Given the description of an element on the screen output the (x, y) to click on. 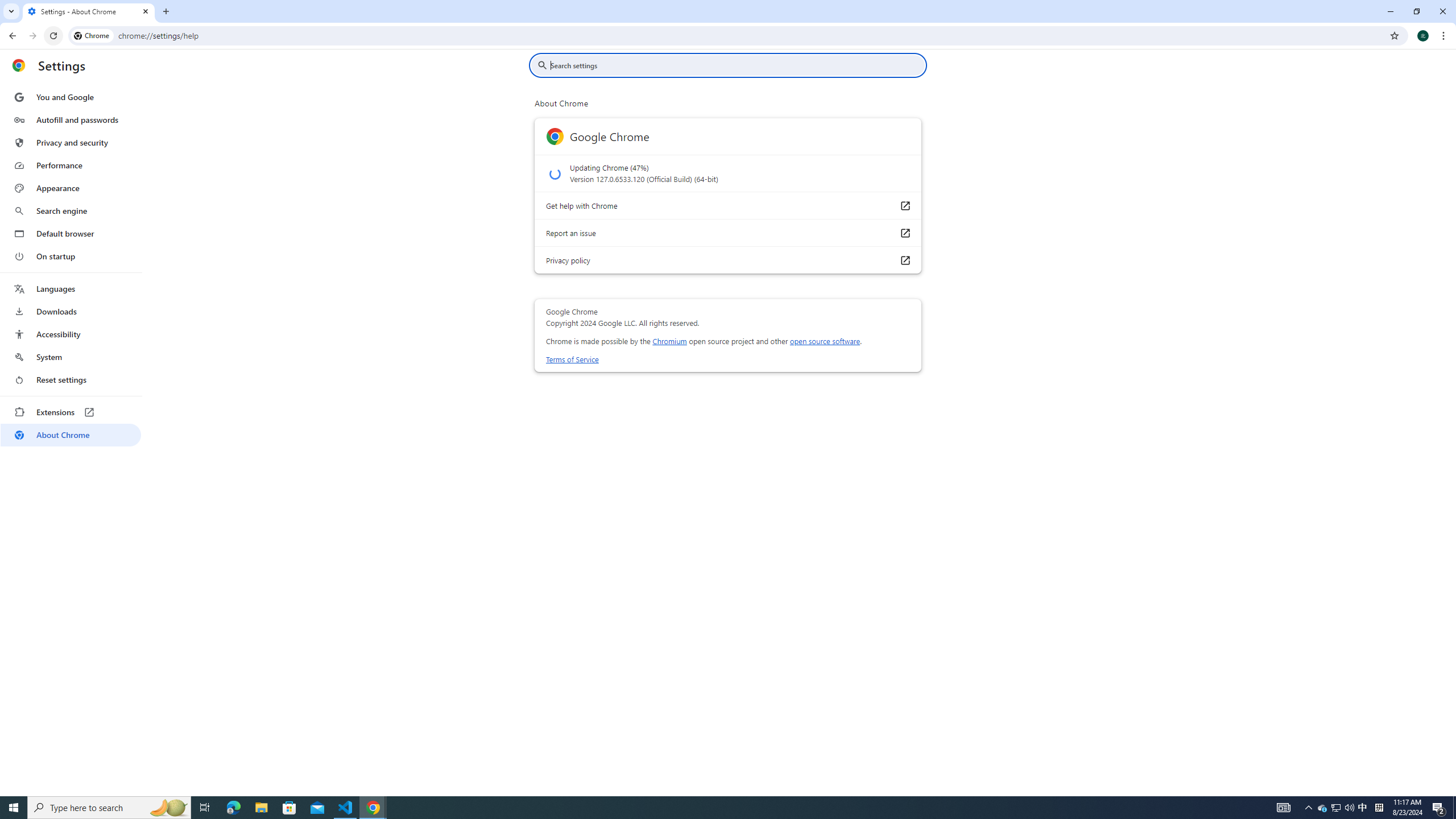
Report an issue (904, 232)
Default browser (70, 233)
Autofill and passwords (70, 119)
Get help with Chrome (904, 205)
You and Google (70, 96)
Downloads (70, 311)
Search engine (70, 210)
Accessibility (70, 333)
Privacy and security (70, 142)
